Given the description of an element on the screen output the (x, y) to click on. 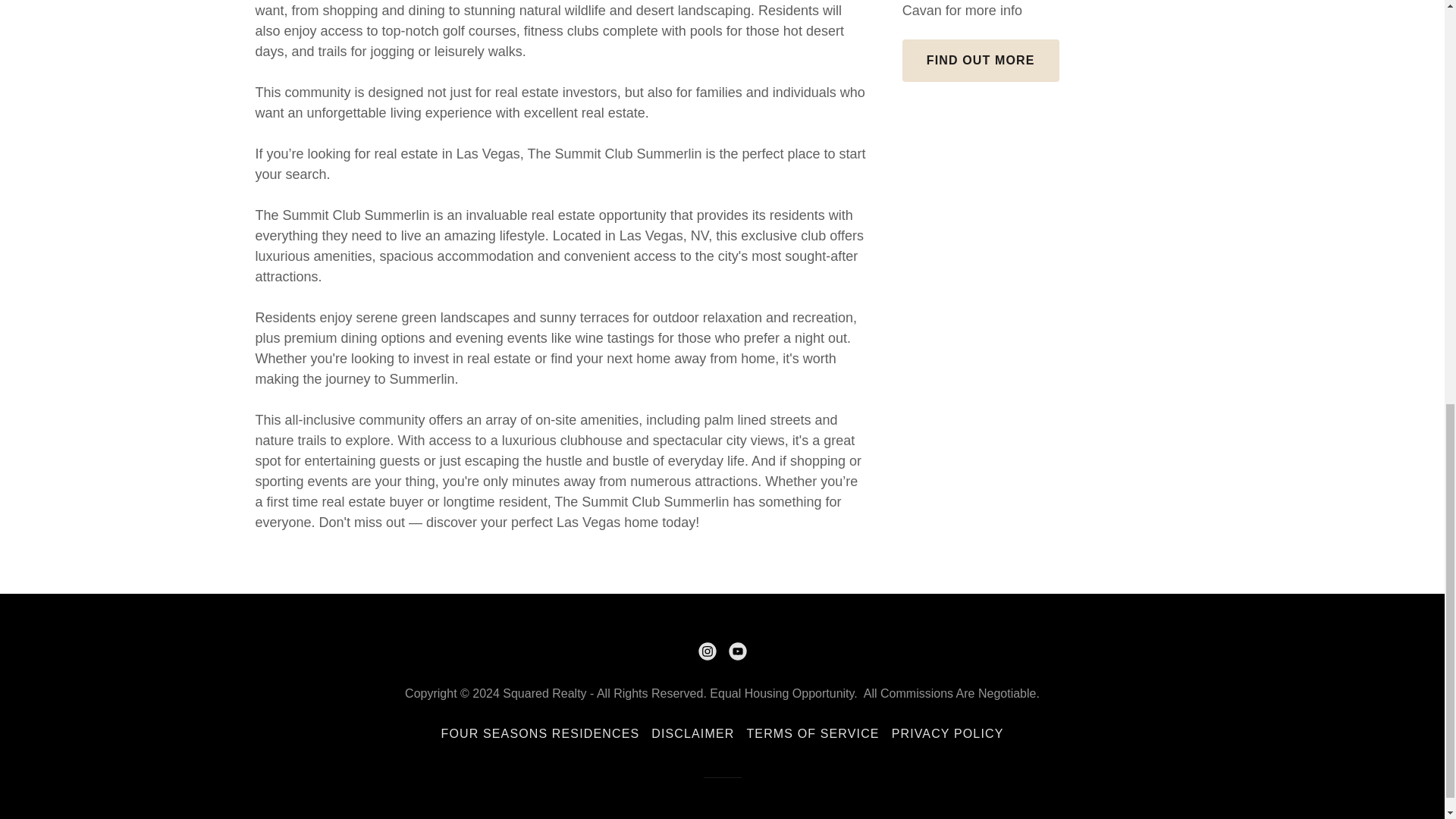
DISCLAIMER (692, 733)
PRIVACY POLICY (947, 733)
FIND OUT MORE (980, 60)
TERMS OF SERVICE (812, 733)
FOUR SEASONS RESIDENCES (540, 733)
